Given the description of an element on the screen output the (x, y) to click on. 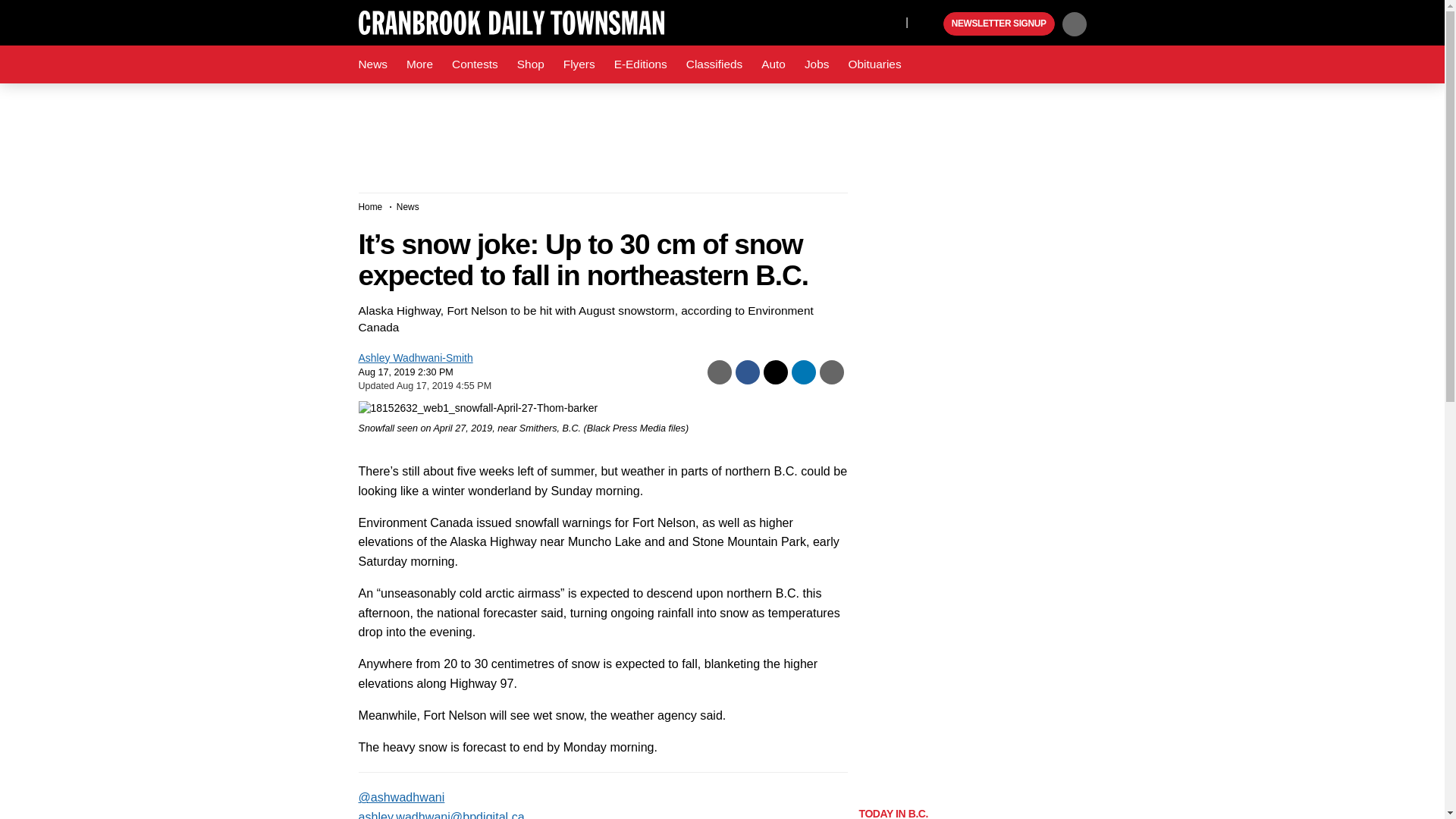
News (372, 64)
NEWSLETTER SIGNUP (998, 24)
Play (929, 24)
X (889, 21)
Black Press Media (929, 24)
